Given the description of an element on the screen output the (x, y) to click on. 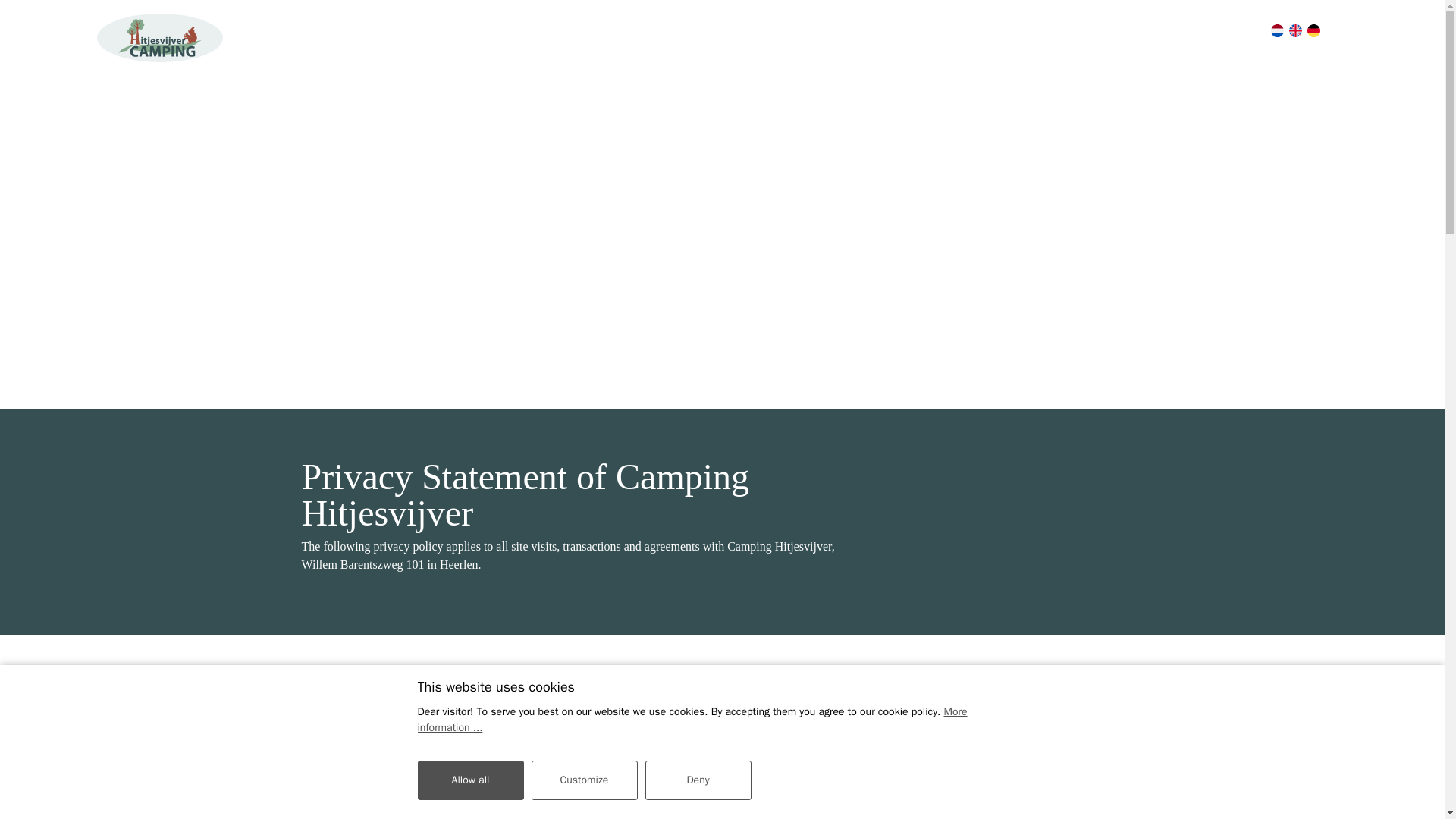
hitjesvijver (159, 37)
Customize (584, 780)
Find and book (1376, 30)
Allow all (469, 780)
More information ... (691, 719)
Deny (698, 780)
Menu (58, 30)
Find and book (1376, 30)
